Given the description of an element on the screen output the (x, y) to click on. 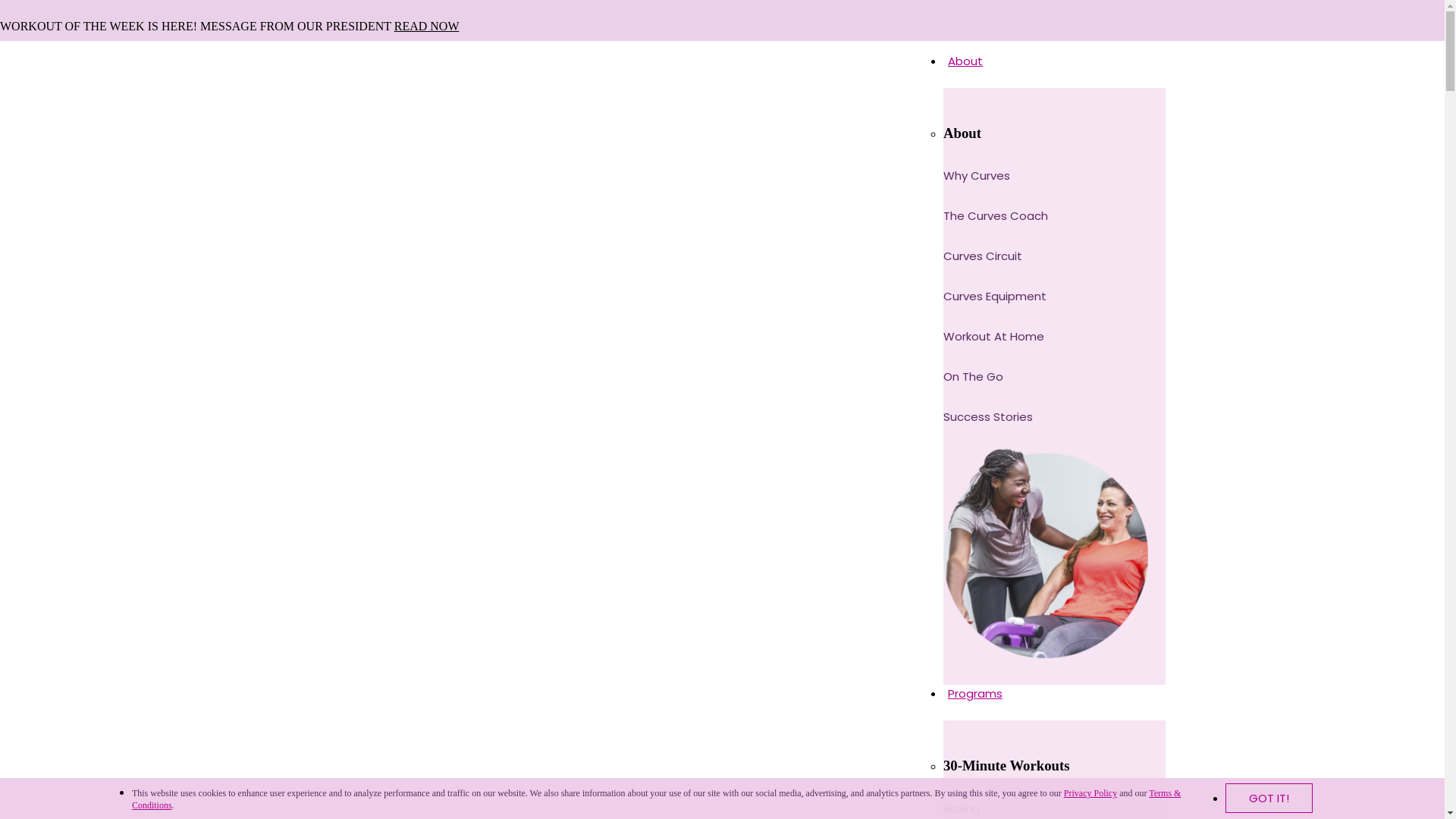
Terms & Conditions Element type: text (655, 798)
GOT IT! Element type: text (1268, 797)
BELONG Element type: text (82, 227)
TAKE :30 WITH KRISHEA Element type: text (126, 307)
READ NOW Element type: text (426, 25)
Home Element type: text (47, 47)
ALL Element type: text (68, 148)
Privacy Policy Element type: text (1090, 792)
Programs Element type: text (1054, 702)
SHINE Element type: text (75, 254)
About Element type: text (1054, 69)
MOVE Element type: text (76, 174)
LIVE Element type: text (70, 280)
The Inner Circle Element type: text (93, 47)
NOURISH Element type: text (85, 201)
